Given the description of an element on the screen output the (x, y) to click on. 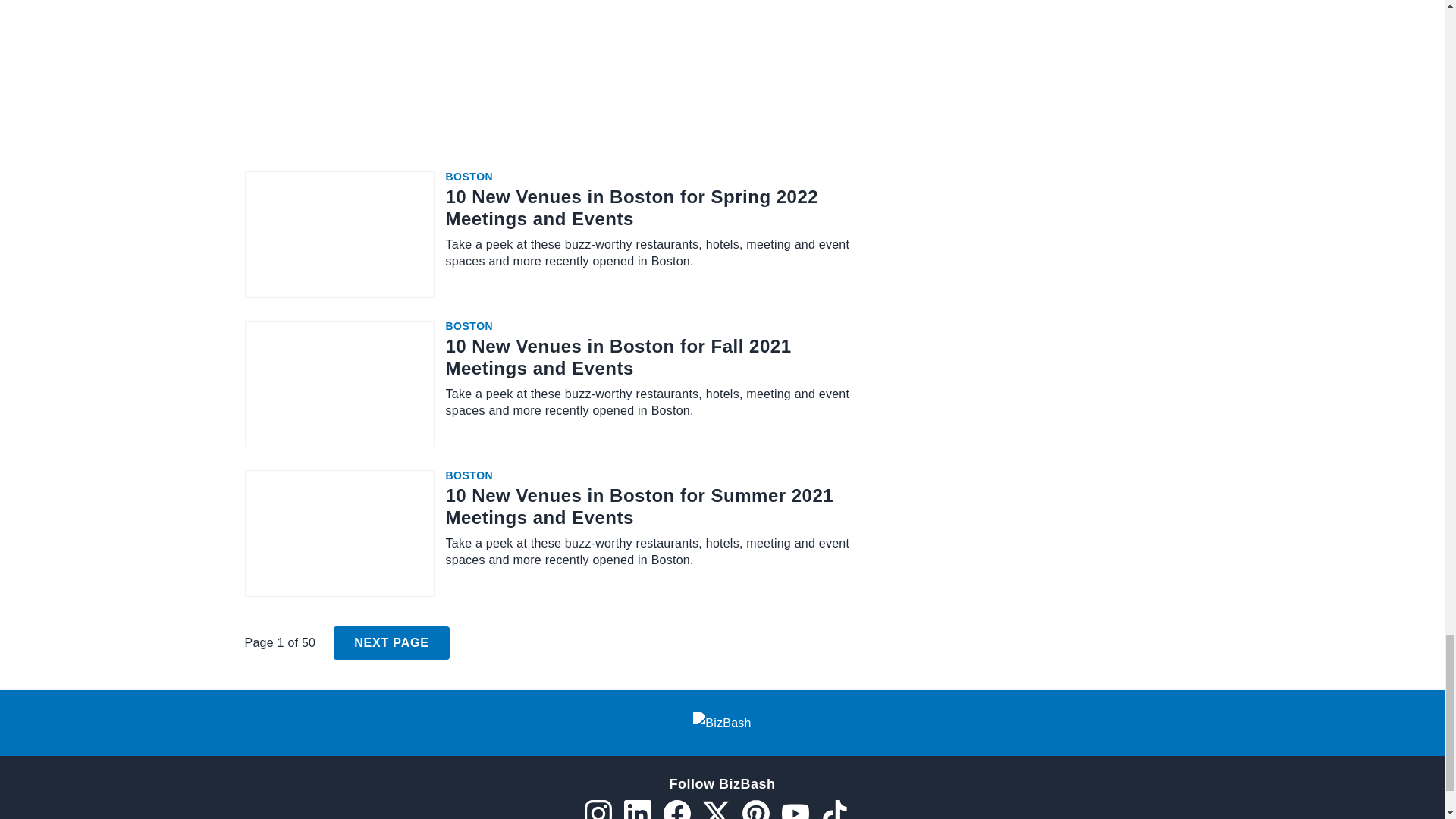
Twitter X icon (715, 809)
Pinterest icon (754, 809)
Instagram icon (597, 809)
LinkedIn icon (636, 809)
YouTube icon (794, 809)
TikTok (834, 809)
Facebook icon (676, 809)
